Given the description of an element on the screen output the (x, y) to click on. 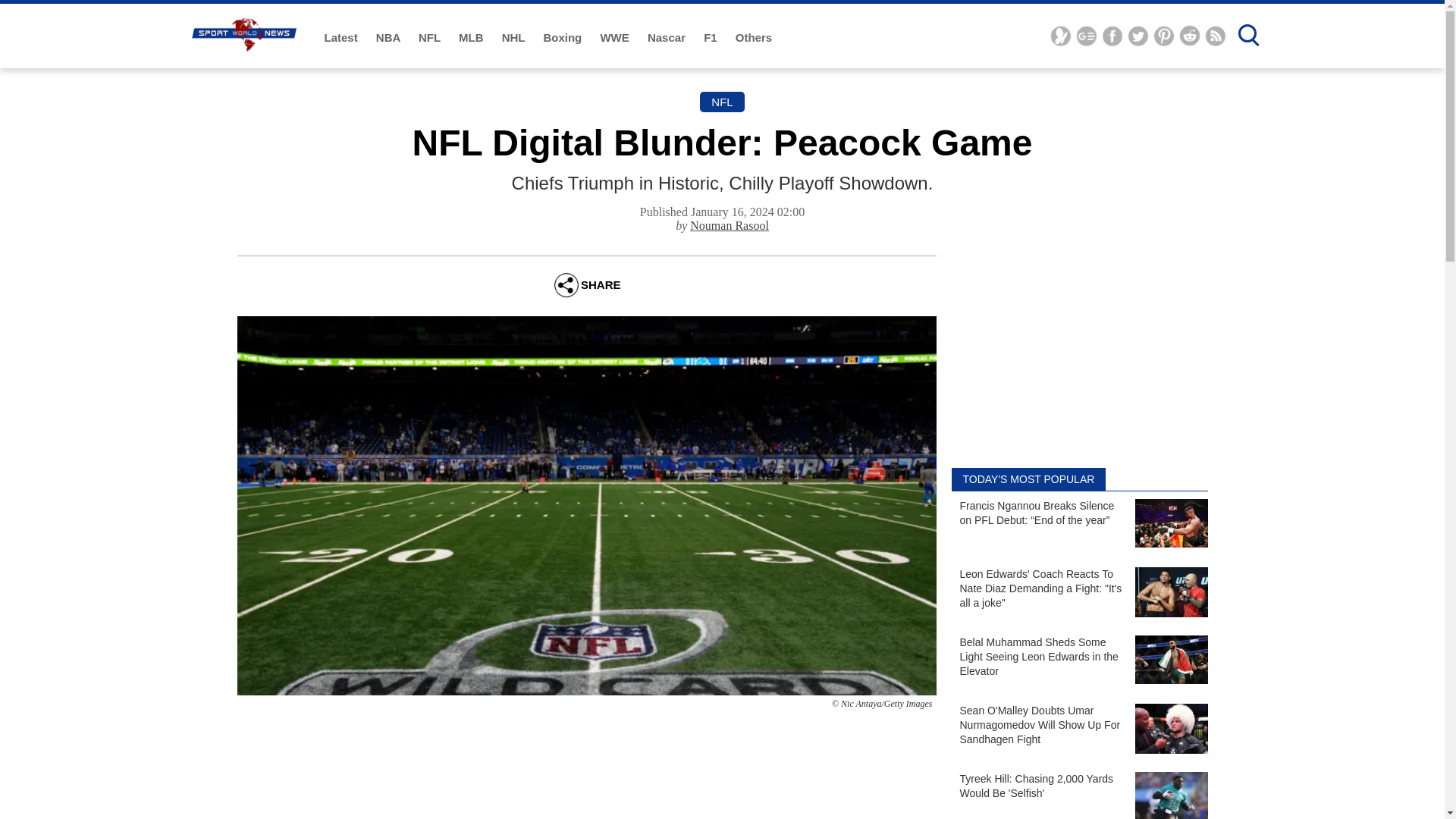
Others (753, 37)
WWE (615, 37)
F1 (711, 37)
MLB (472, 37)
NHL (515, 37)
Nascar (667, 37)
NFL (431, 37)
Latest (342, 37)
Boxing (564, 37)
NBA (389, 37)
